Given the description of an element on the screen output the (x, y) to click on. 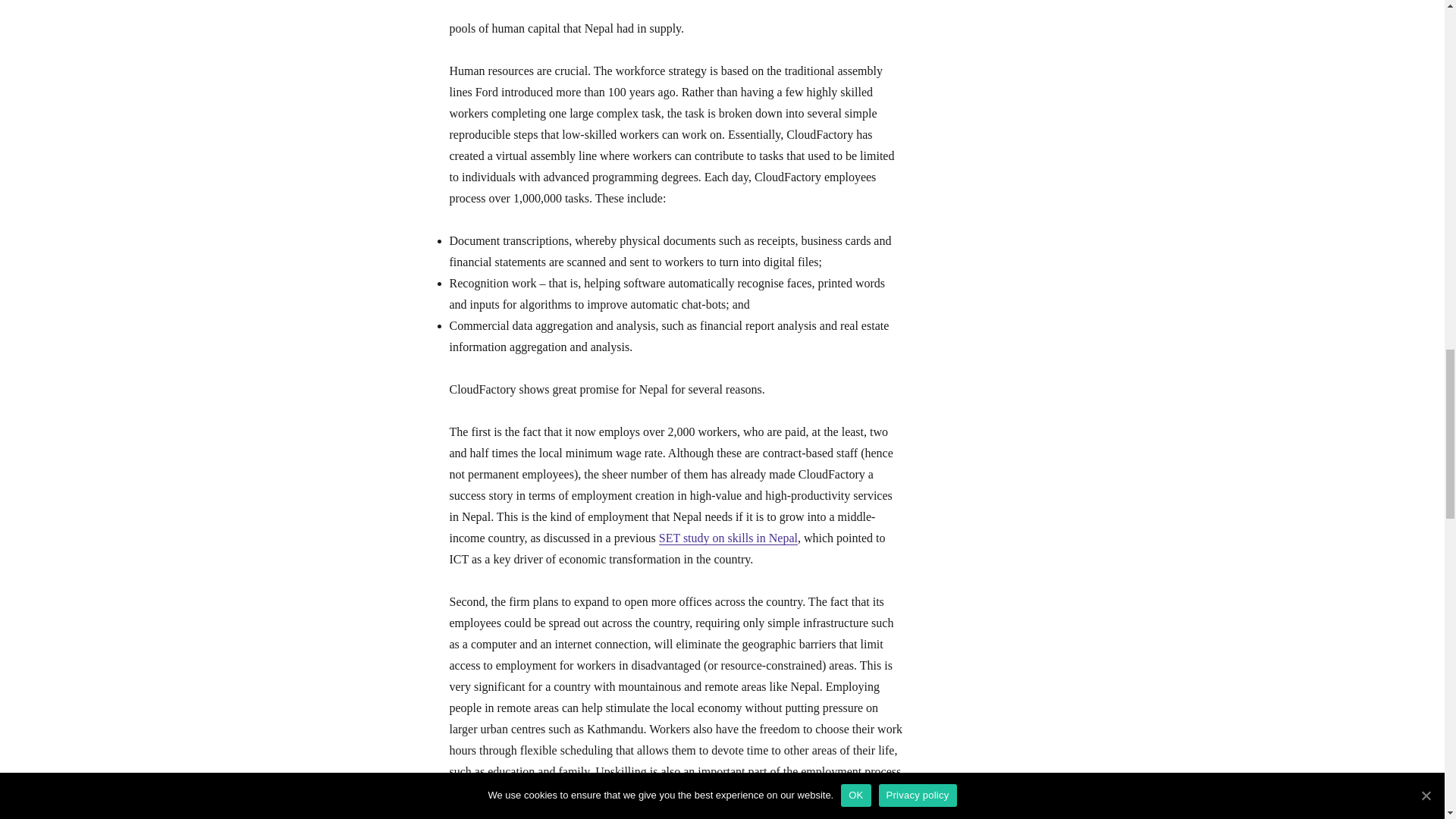
SET study on skills in Nepal (728, 537)
reporting (817, 792)
